Given the description of an element on the screen output the (x, y) to click on. 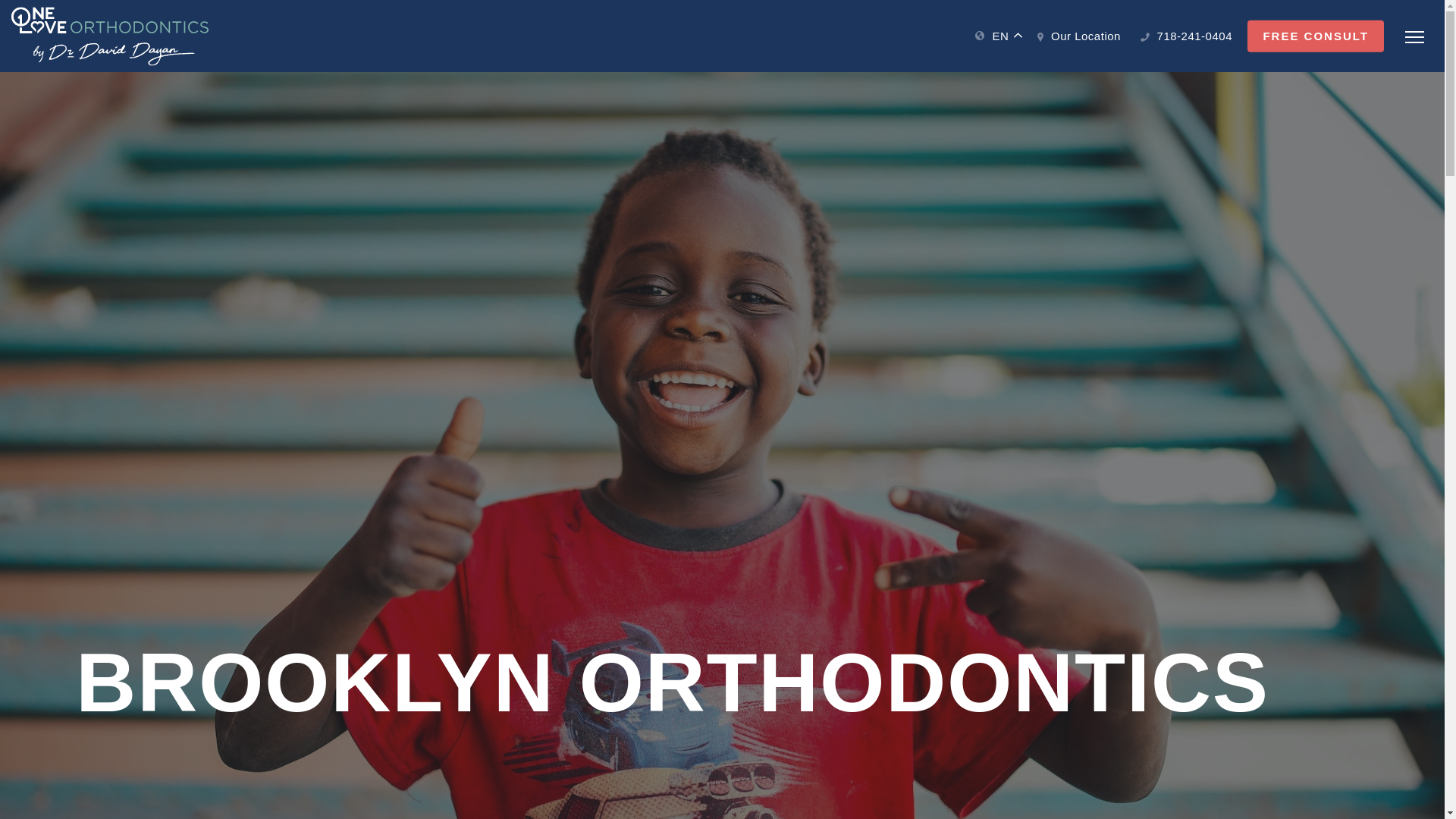
Our Location (1078, 36)
718-241-0404 (1185, 36)
FREE CONSULT (1315, 35)
